Given the description of an element on the screen output the (x, y) to click on. 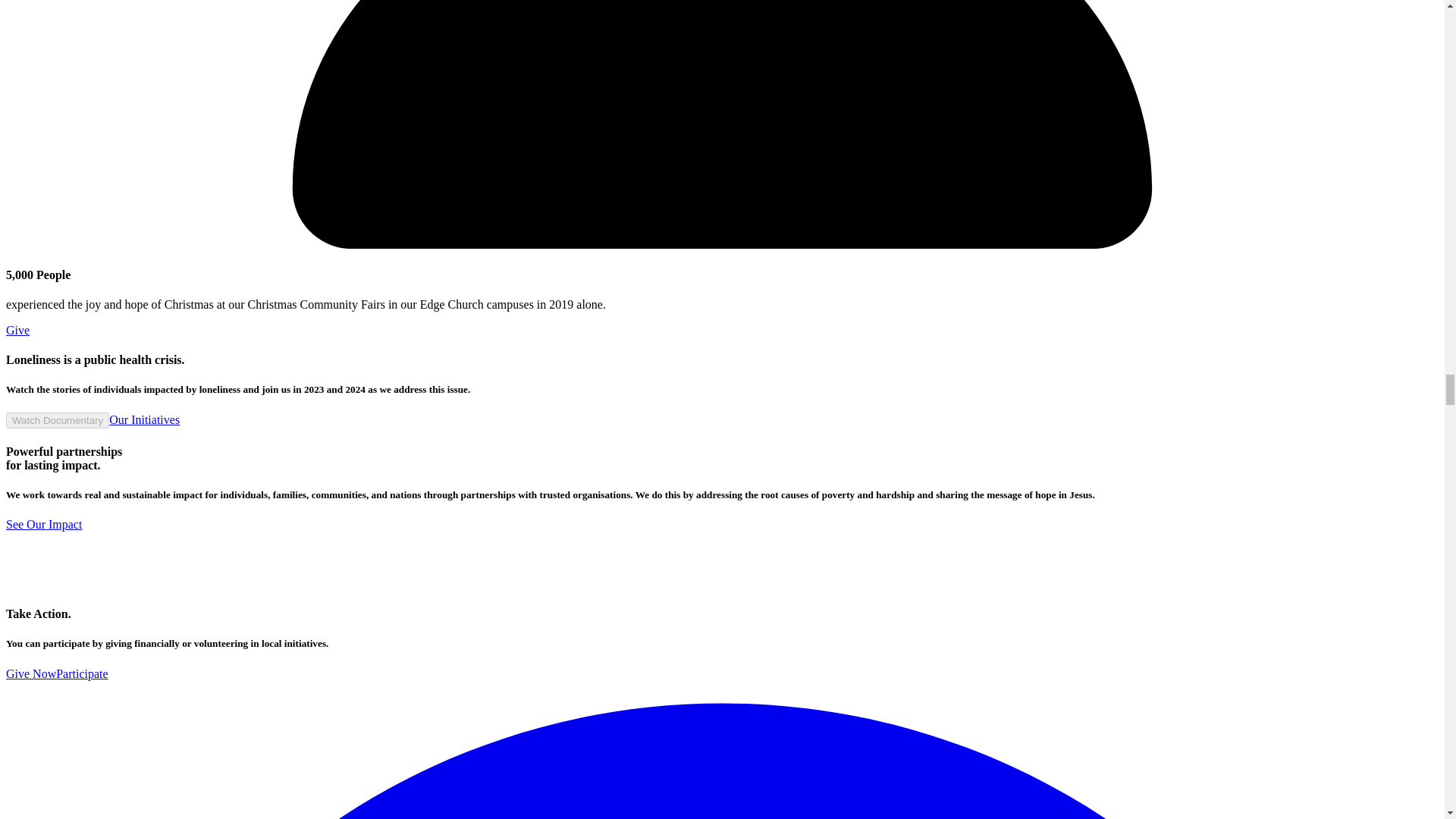
Give Now (30, 673)
See Our Impact (43, 523)
Watch Documentary (57, 420)
Participate (81, 673)
Our Initiatives (144, 419)
Give (17, 329)
